Given the description of an element on the screen output the (x, y) to click on. 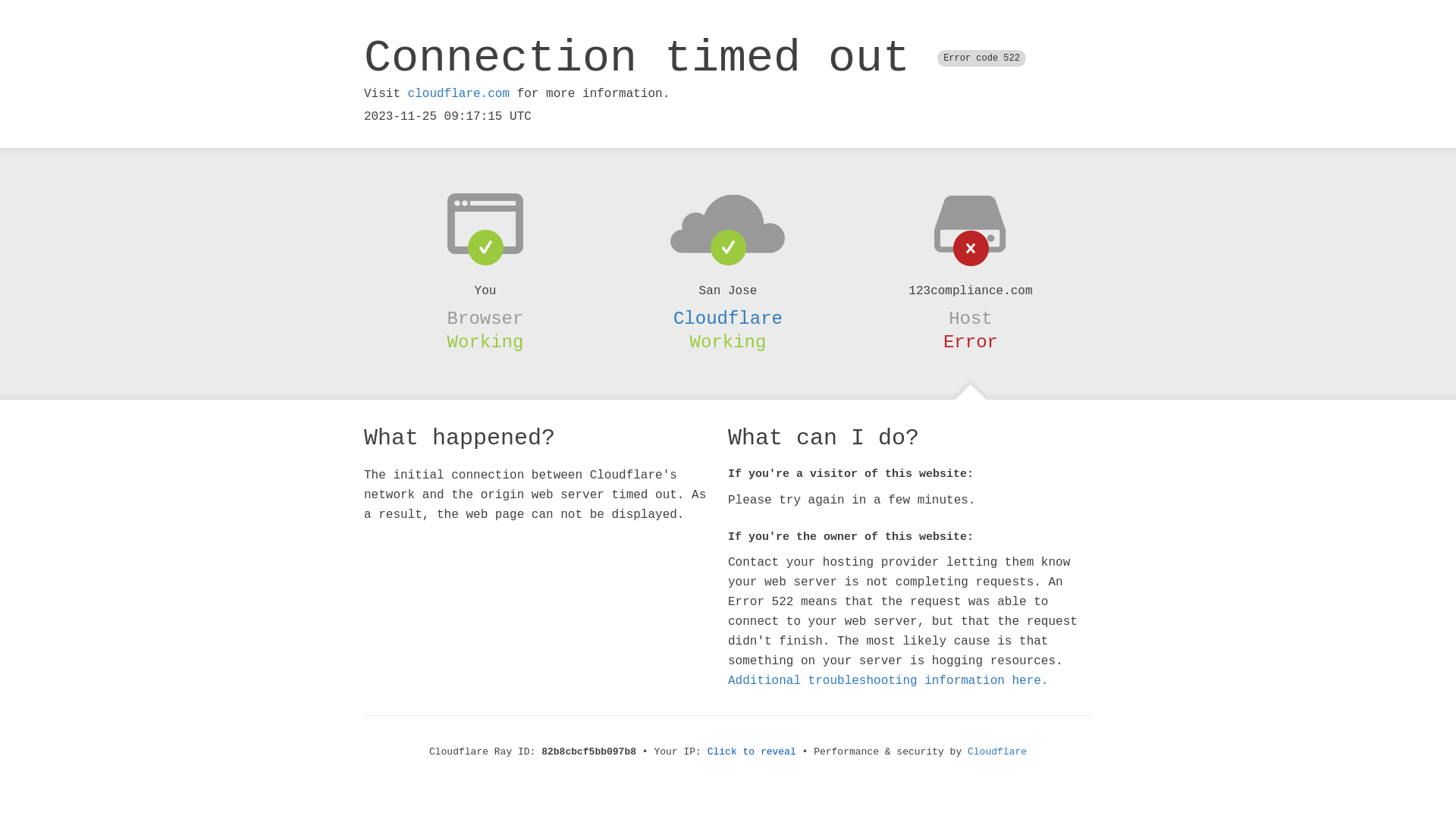
cloudflare.com Element type: text (458, 93)
Click to reveal Element type: text (751, 751)
Cloudflare Element type: text (996, 751)
Additional troubleshooting information here. Element type: text (888, 680)
Cloudflare Element type: text (727, 318)
